Given the description of an element on the screen output the (x, y) to click on. 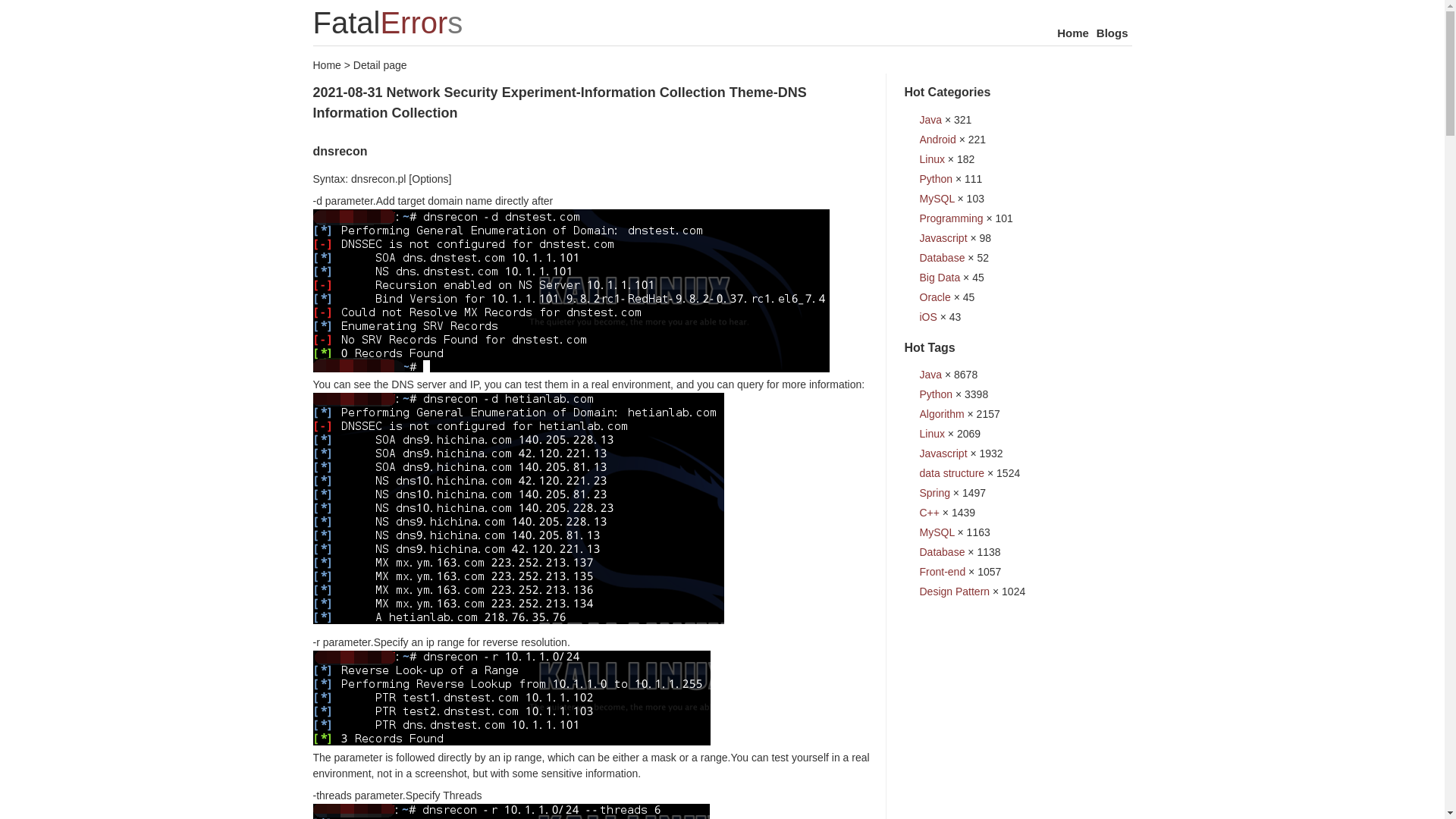
Blogs (1112, 31)
Python (935, 178)
Javascript (942, 453)
Front-end (941, 571)
iOS (927, 316)
Python (935, 394)
Design Pattern (954, 591)
Home (326, 64)
FatalErrors (388, 22)
MySQL (935, 198)
